Given the description of an element on the screen output the (x, y) to click on. 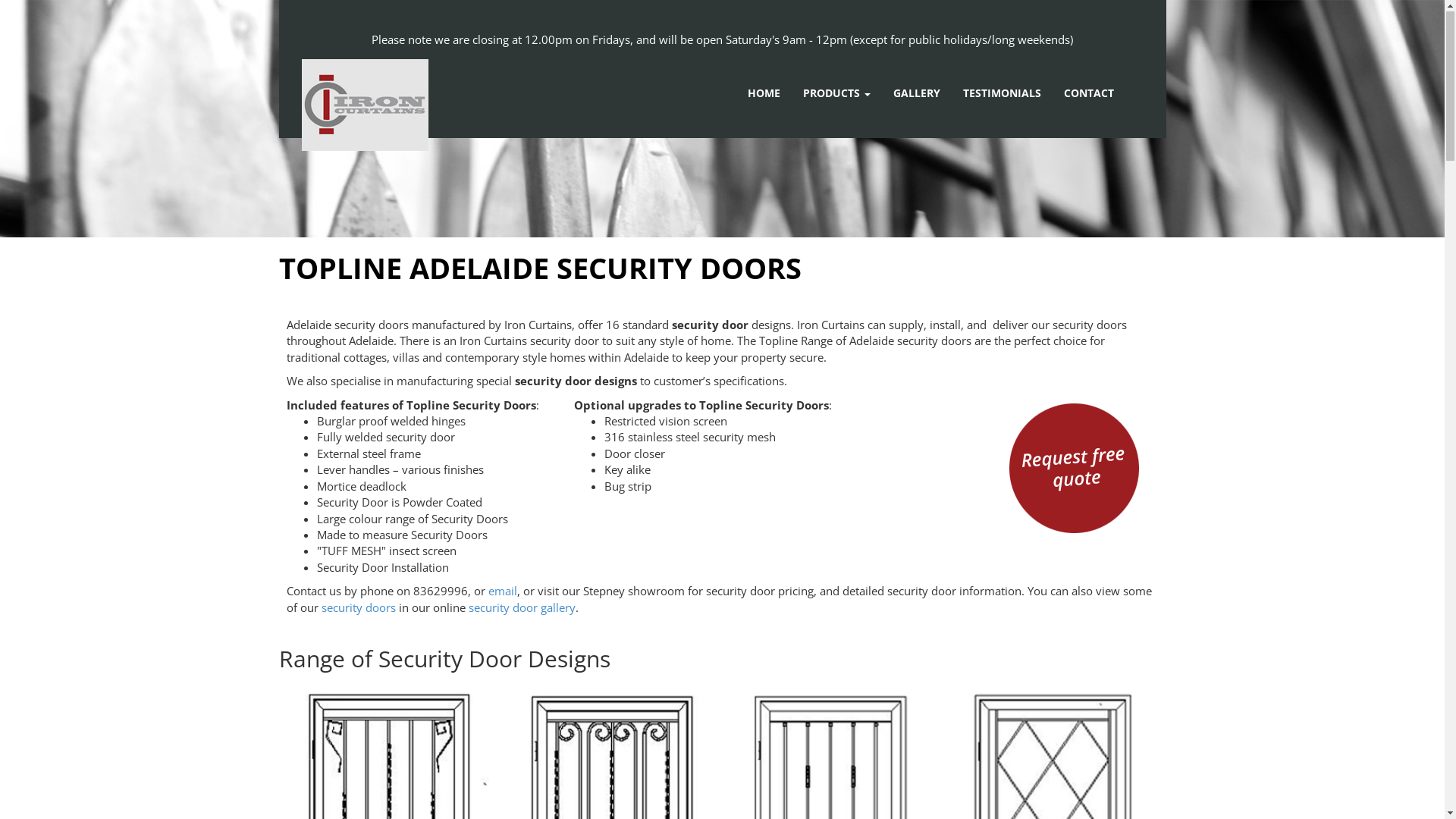
email Element type: text (502, 591)
GALLERY Element type: text (916, 93)
TESTIMONIALS Element type: text (1001, 93)
CONTACT Element type: text (1088, 93)
PRODUCTS Element type: text (836, 93)
security doors Element type: text (358, 607)
HOME Element type: text (763, 93)
security door gallery Element type: text (521, 607)
